Given the description of an element on the screen output the (x, y) to click on. 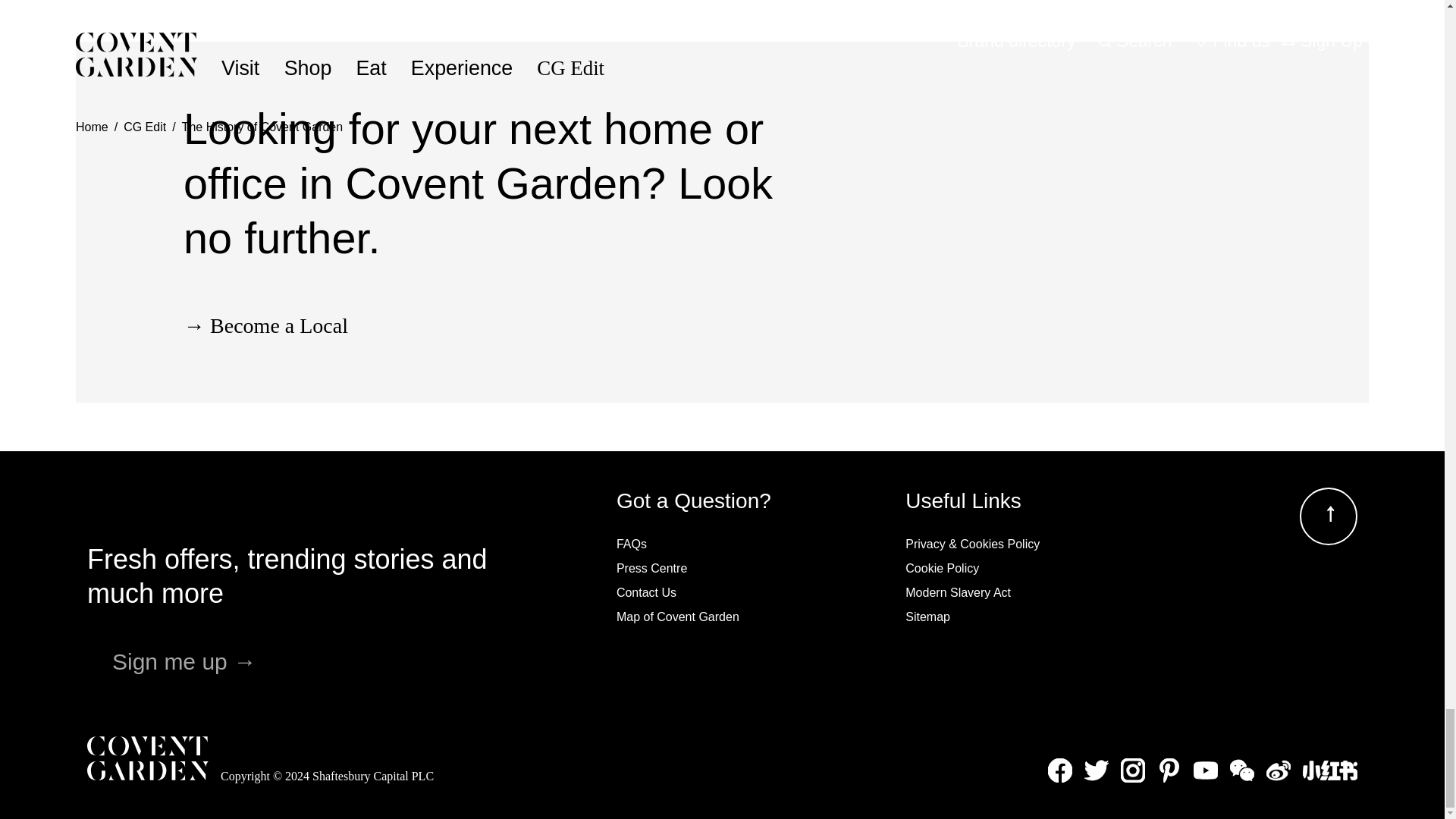
Little Red book (1329, 770)
Weibo (1278, 770)
Pinterest (1168, 770)
Twitter (1096, 770)
Facebook (1059, 770)
Instagram (1132, 770)
